Given the description of an element on the screen output the (x, y) to click on. 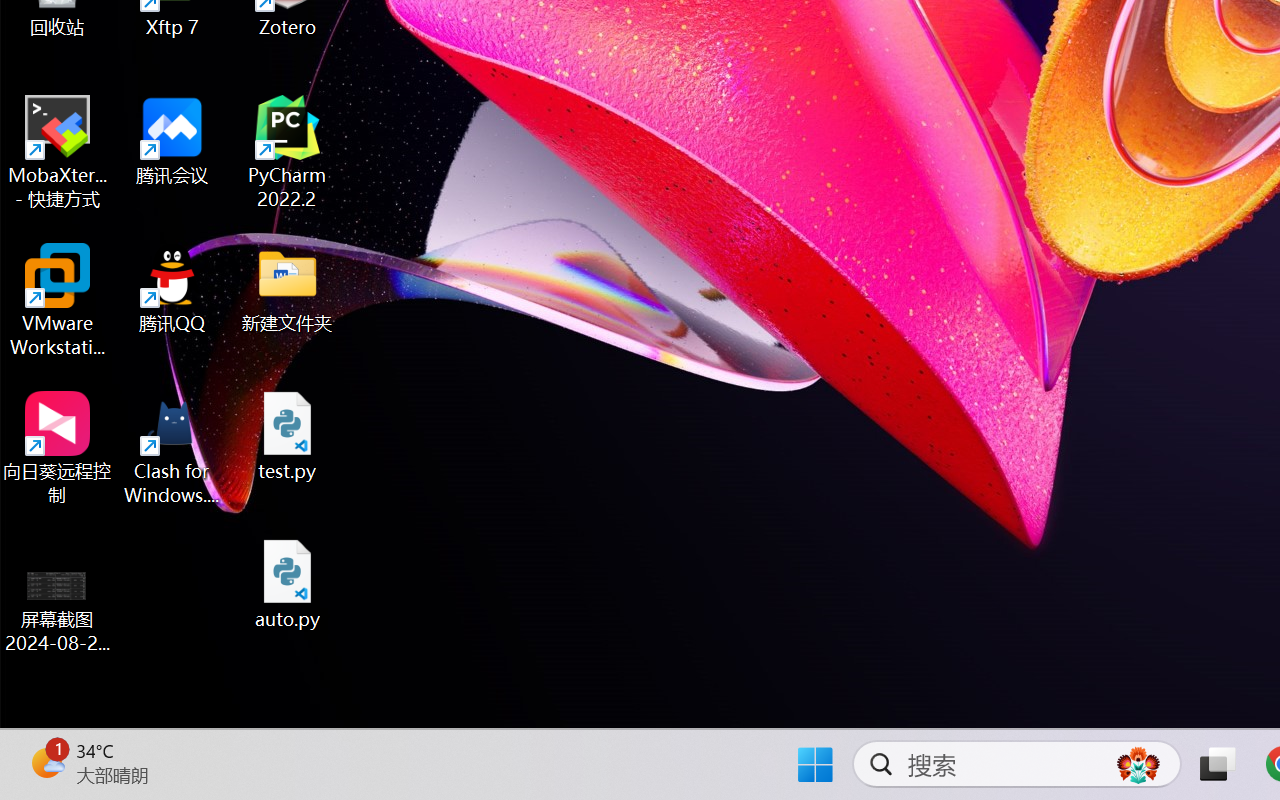
auto.py (287, 584)
VMware Workstation Pro (57, 300)
test.py (287, 436)
